Given the description of an element on the screen output the (x, y) to click on. 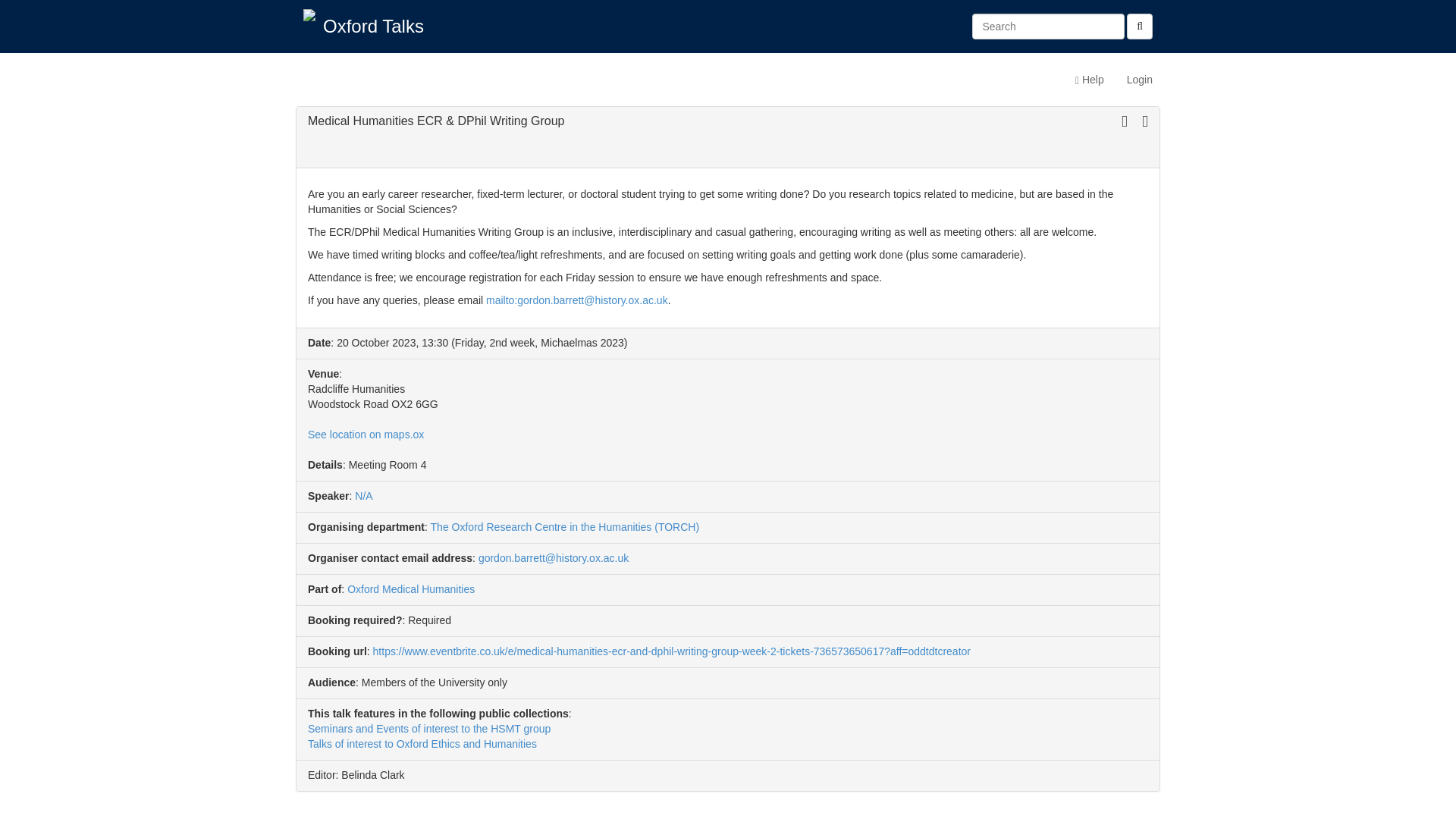
Oxford Talks (373, 26)
Help (1089, 79)
Seminars and Events of interest to the HSMT group (428, 728)
Talks of interest to Oxford Ethics and Humanities (422, 743)
Login (1139, 79)
Oxford Medical Humanities (410, 589)
See location on maps.ox (365, 434)
